Given the description of an element on the screen output the (x, y) to click on. 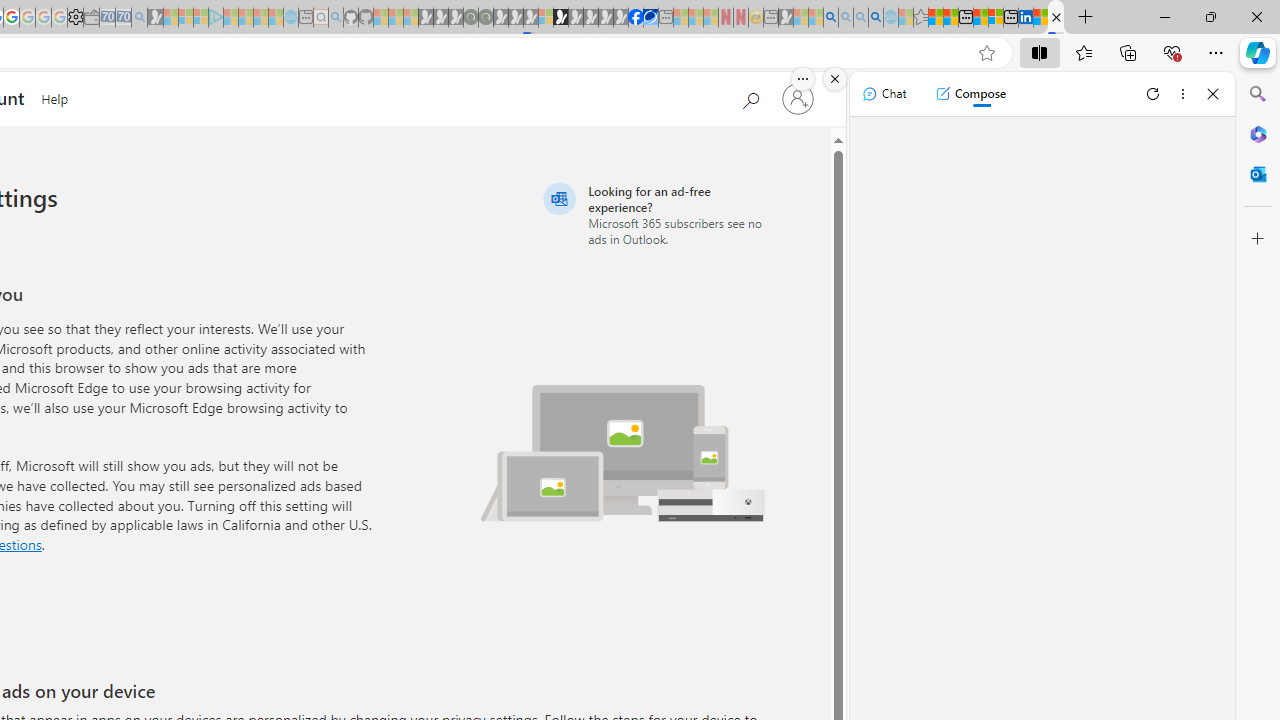
Google Chrome Internet Browser Download - Search Images (876, 17)
More options. (803, 79)
